Given the description of an element on the screen output the (x, y) to click on. 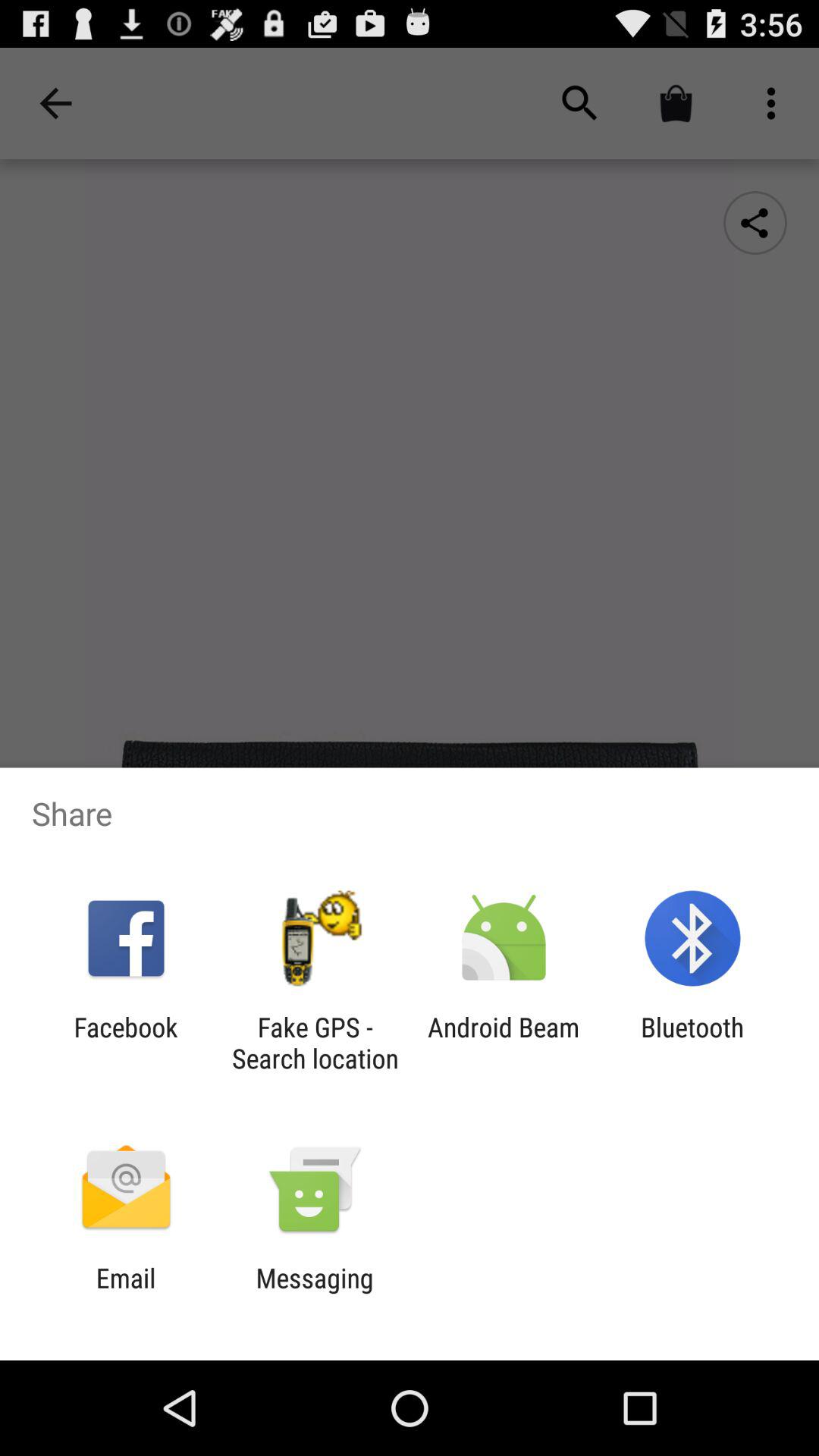
turn on app to the right of the fake gps search (503, 1042)
